Given the description of an element on the screen output the (x, y) to click on. 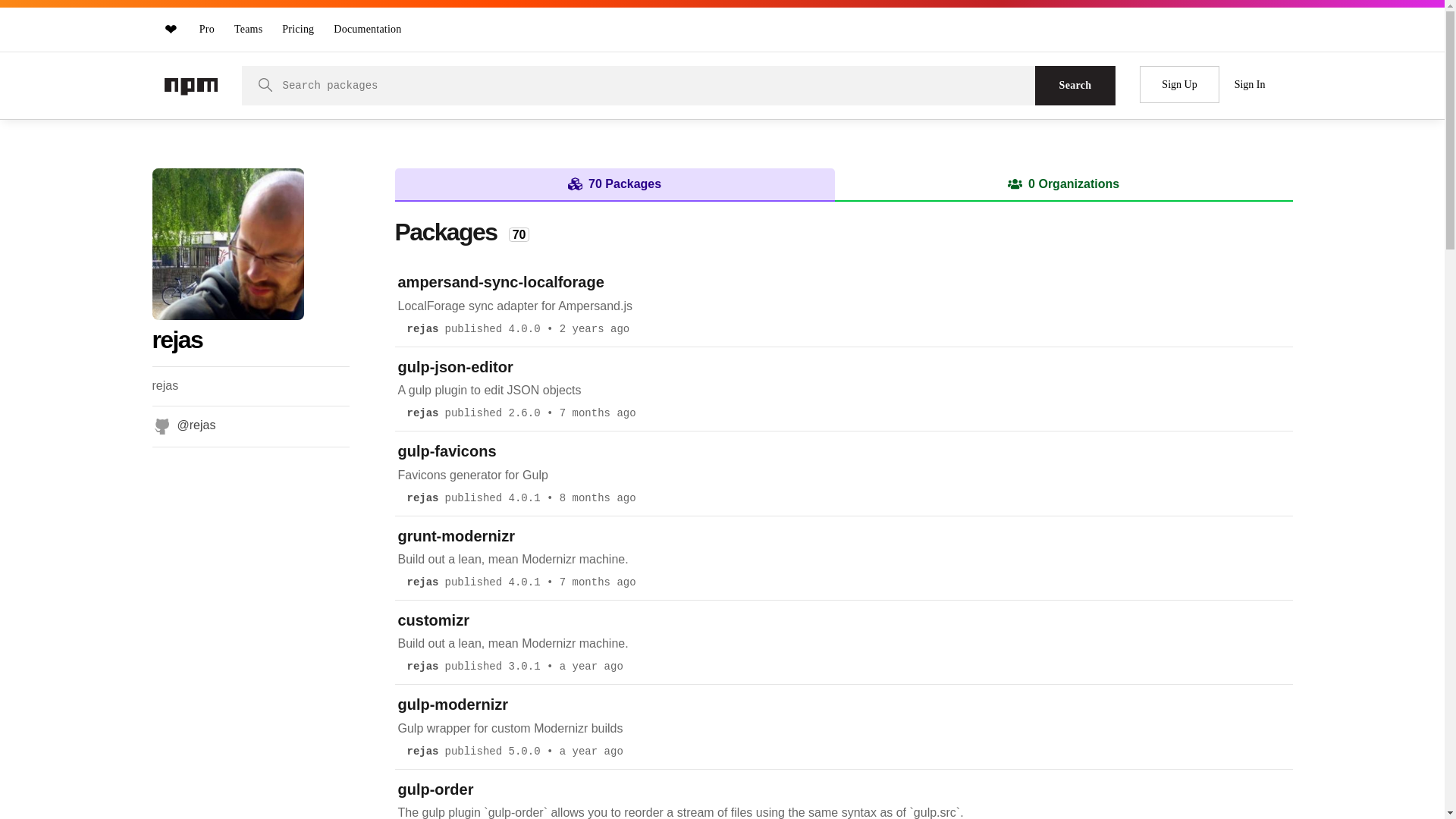
Search (1075, 85)
rejas (422, 666)
ampersand-sync-localforage (500, 282)
Pricing (298, 29)
rejas (422, 498)
70 Packages (614, 183)
Sign Up (1179, 84)
grunt-modernizr (455, 536)
rejas (422, 751)
Sign In (1249, 84)
rejas (422, 413)
Documentation (367, 29)
rejas (422, 329)
0 Organizations (1063, 183)
gulp-order (435, 789)
